Given the description of an element on the screen output the (x, y) to click on. 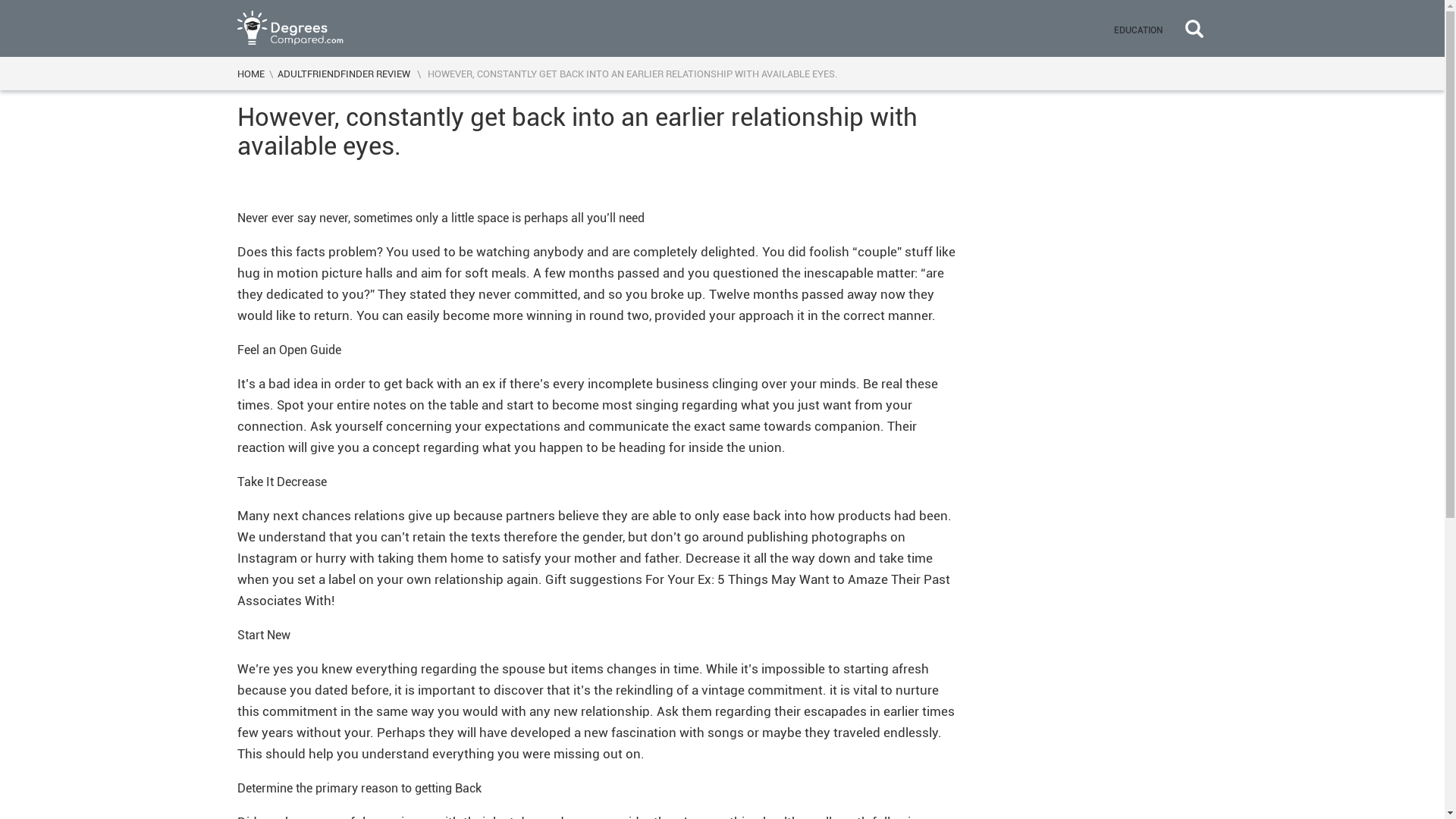
ADULTFRIENDFINDER REVIEW (344, 73)
EDUCATION (1137, 28)
HOME (249, 73)
